Given the description of an element on the screen output the (x, y) to click on. 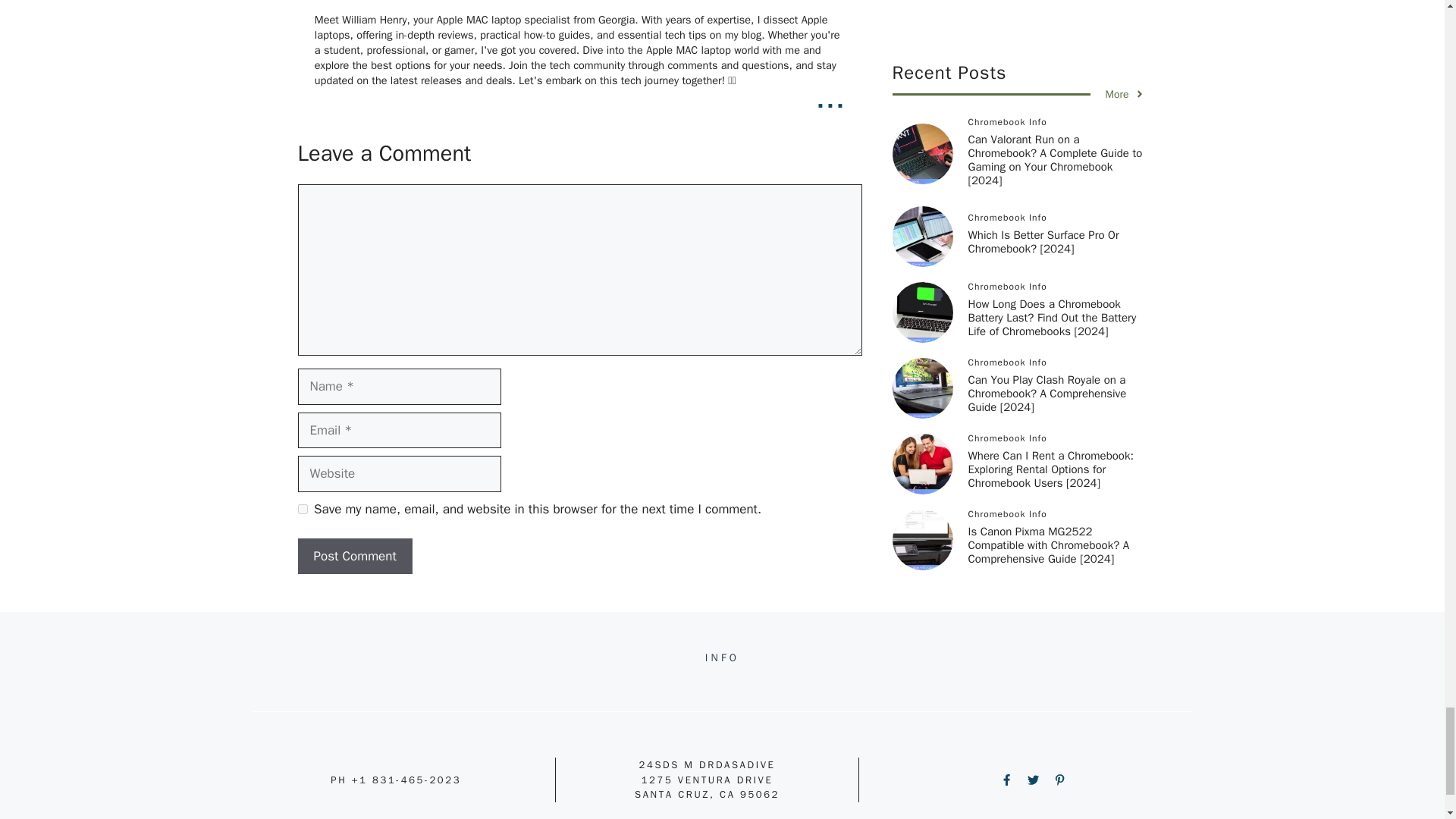
Post Comment (354, 556)
Read more (829, 96)
yes (302, 509)
